Given the description of an element on the screen output the (x, y) to click on. 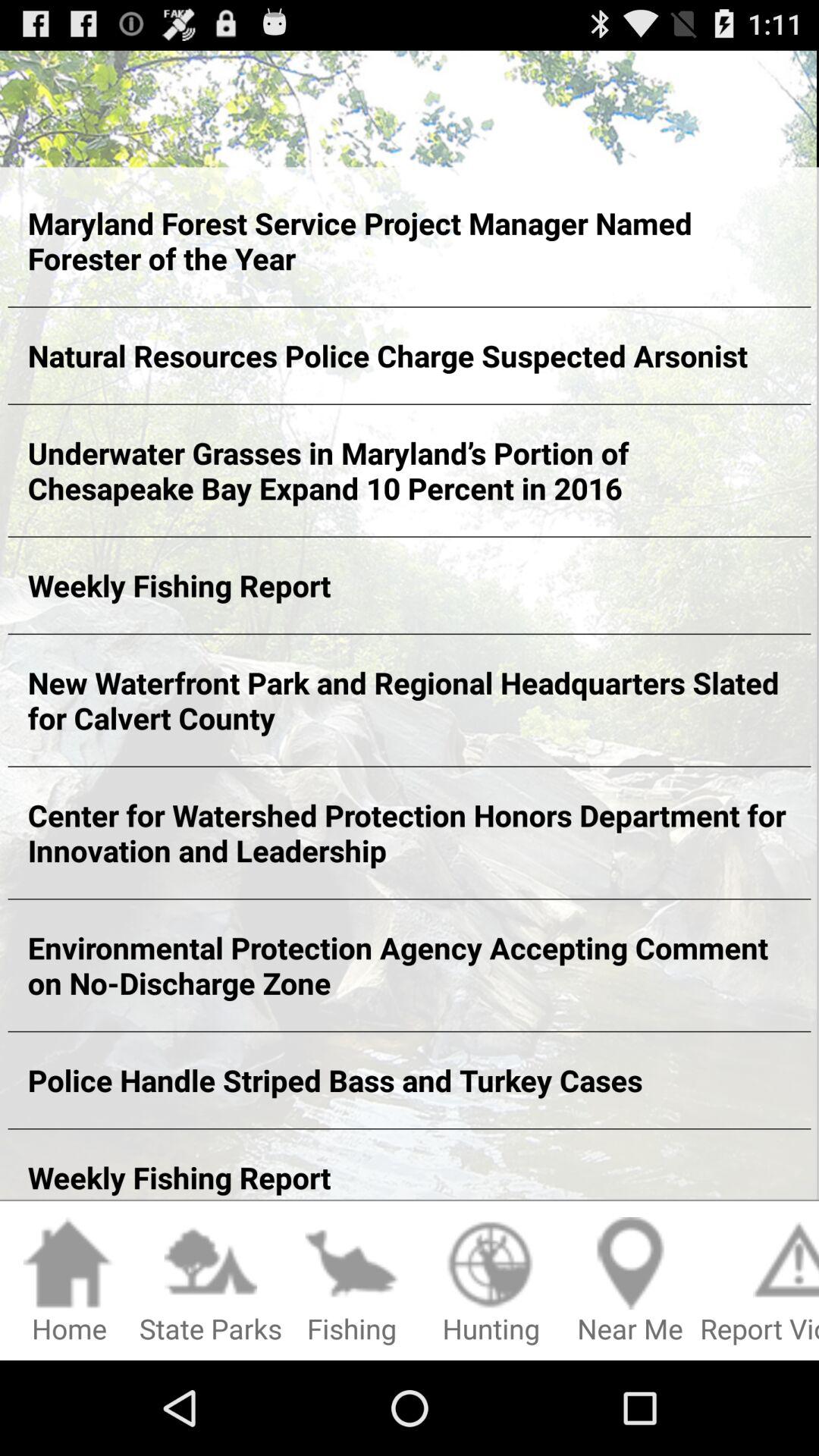
open icon below the weekly fishing report (759, 1282)
